Given the description of an element on the screen output the (x, y) to click on. 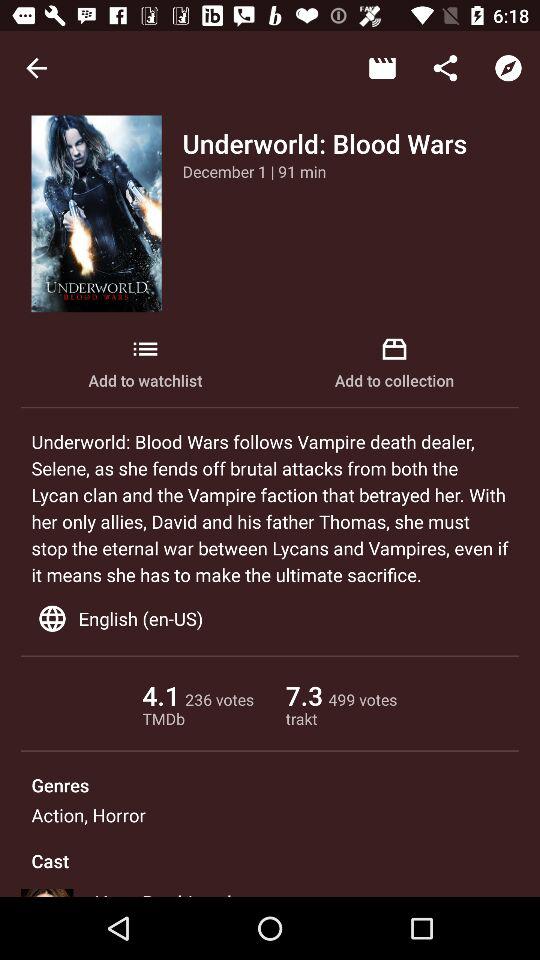
open the english (en-us) (270, 618)
